Given the description of an element on the screen output the (x, y) to click on. 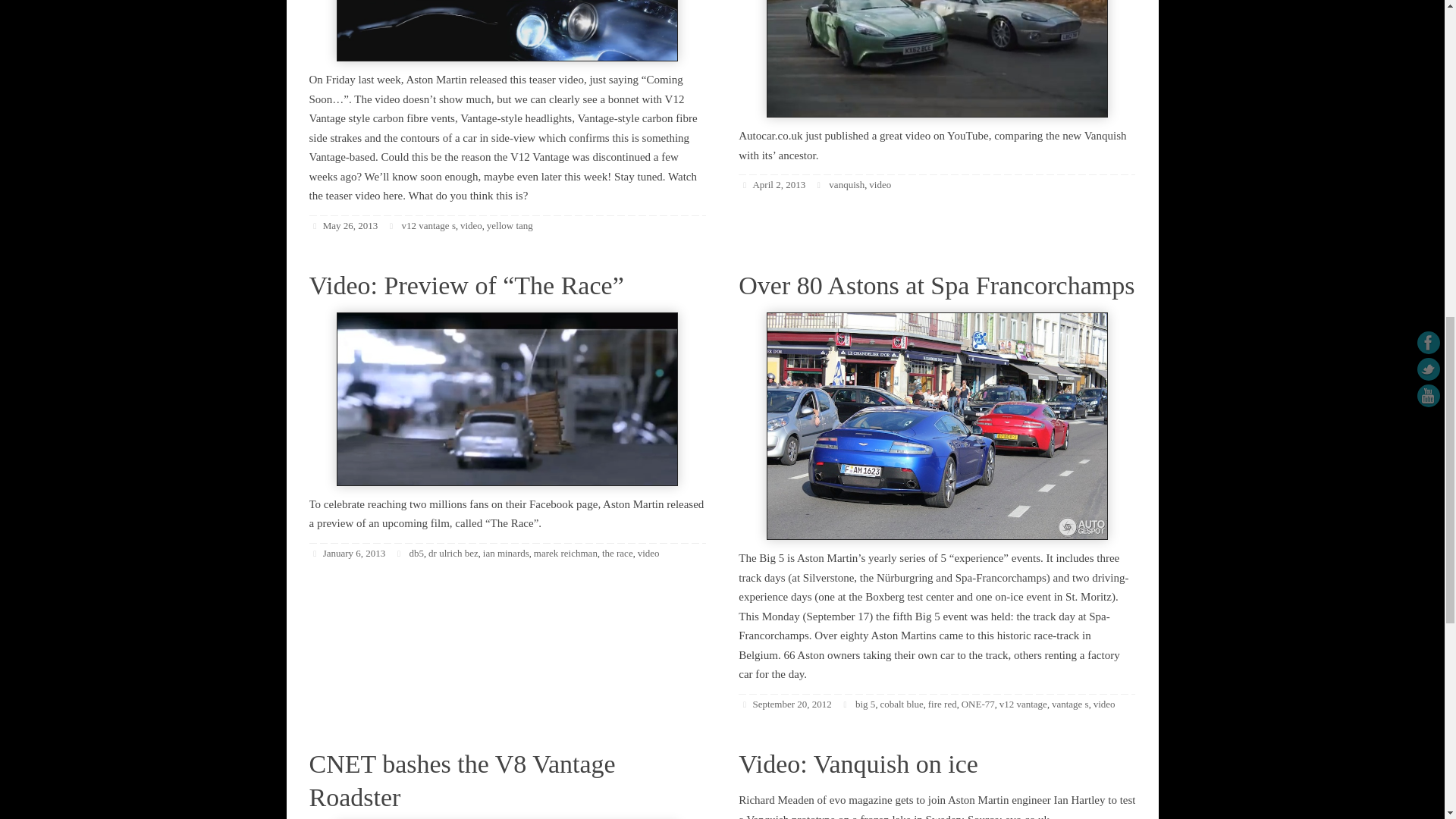
video (880, 184)
Teaser video: V12 Vantage replacement? (507, 30)
April 2, 2013 (778, 184)
yellow tang (509, 225)
May 26, 2013 (350, 225)
video (470, 225)
v12 vantage s (427, 225)
vanquish (846, 184)
